Given the description of an element on the screen output the (x, y) to click on. 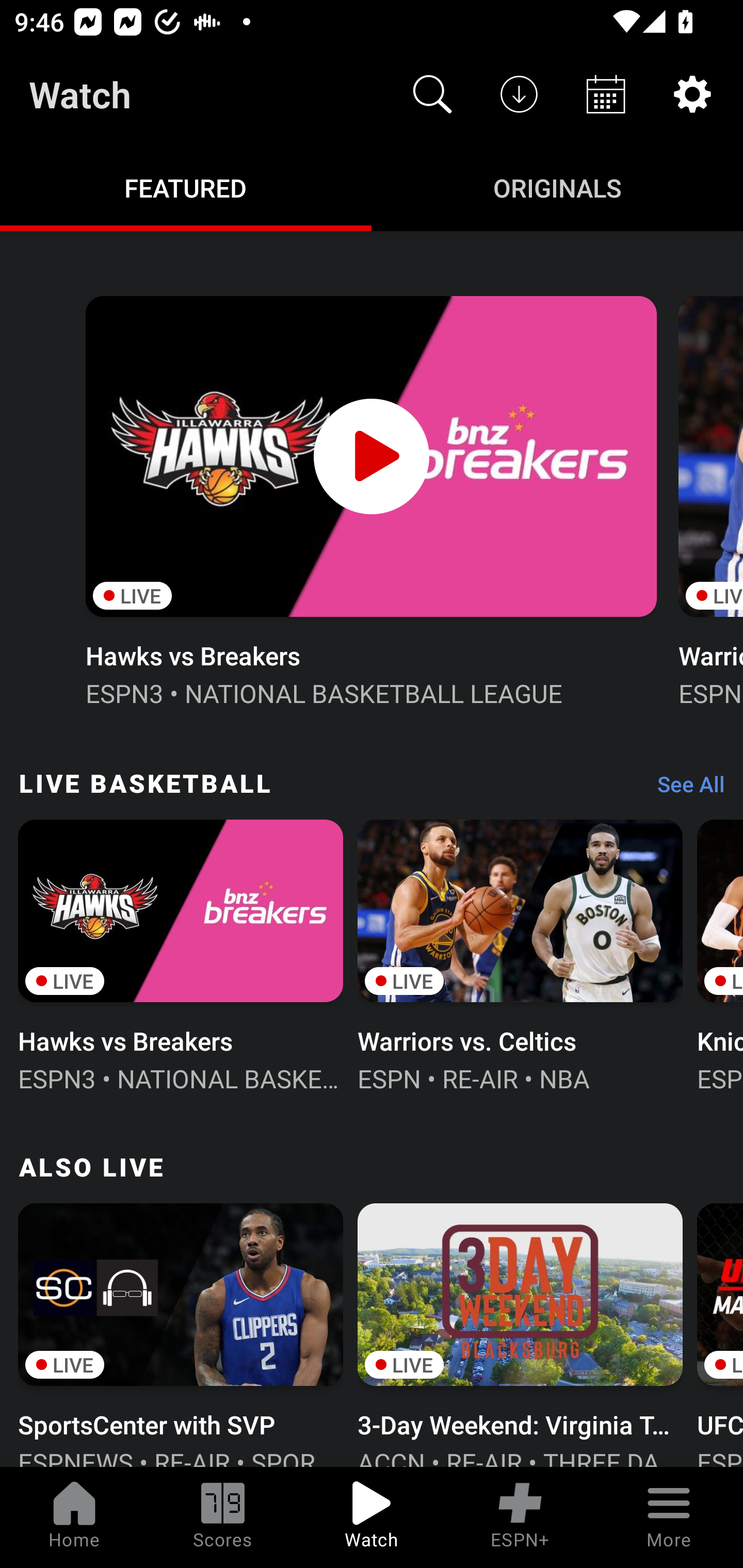
Search (432, 93)
Downloads (518, 93)
Schedule (605, 93)
Settings (692, 93)
Originals ORIGINALS (557, 187)
See All (683, 788)
LIVE Warriors vs. Celtics ESPN • RE-AIR • NBA (519, 954)
Home (74, 1517)
Scores (222, 1517)
ESPN+ (519, 1517)
More (668, 1517)
